Given the description of an element on the screen output the (x, y) to click on. 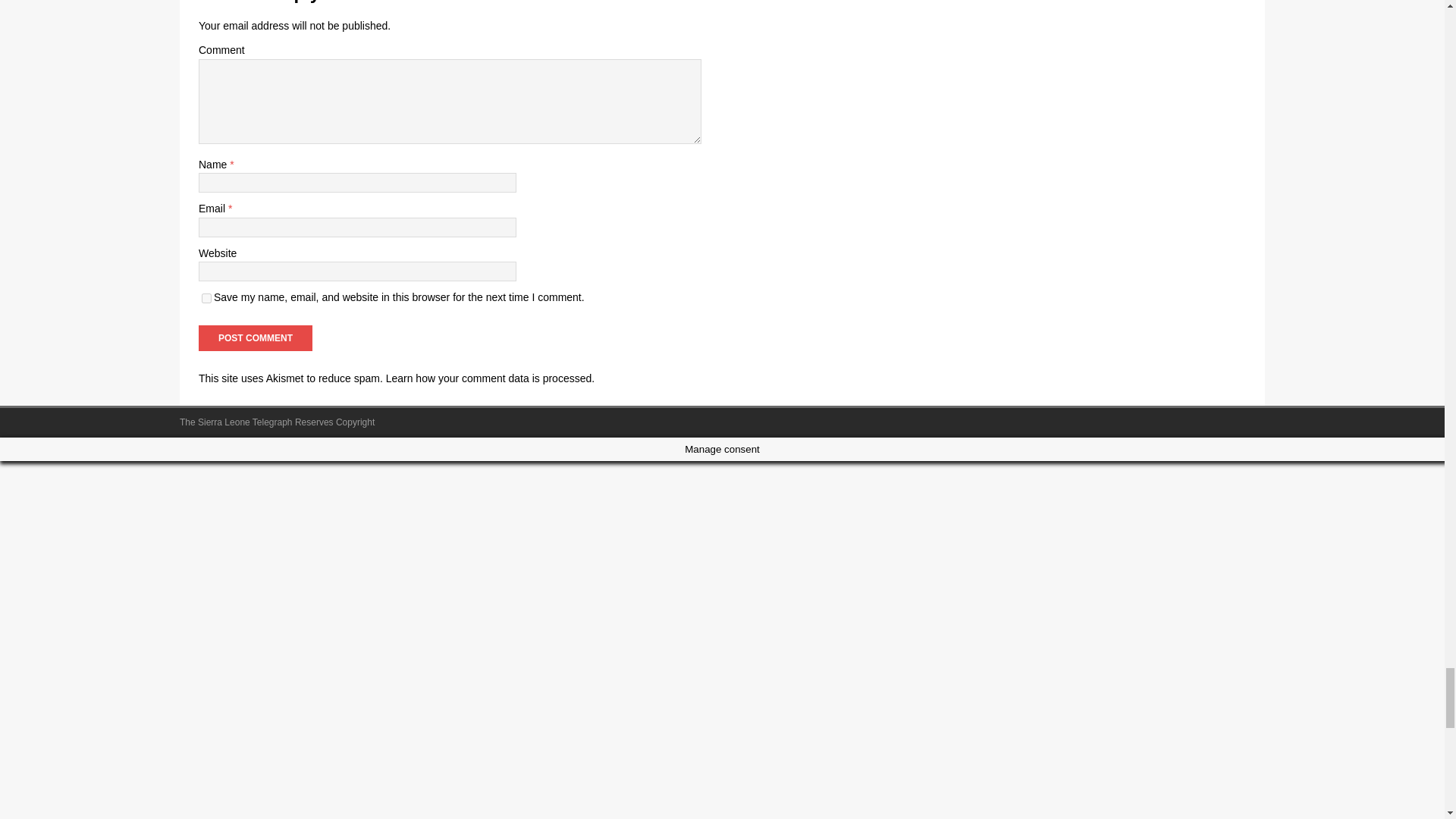
Post Comment (255, 338)
yes (206, 298)
